Given the description of an element on the screen output the (x, y) to click on. 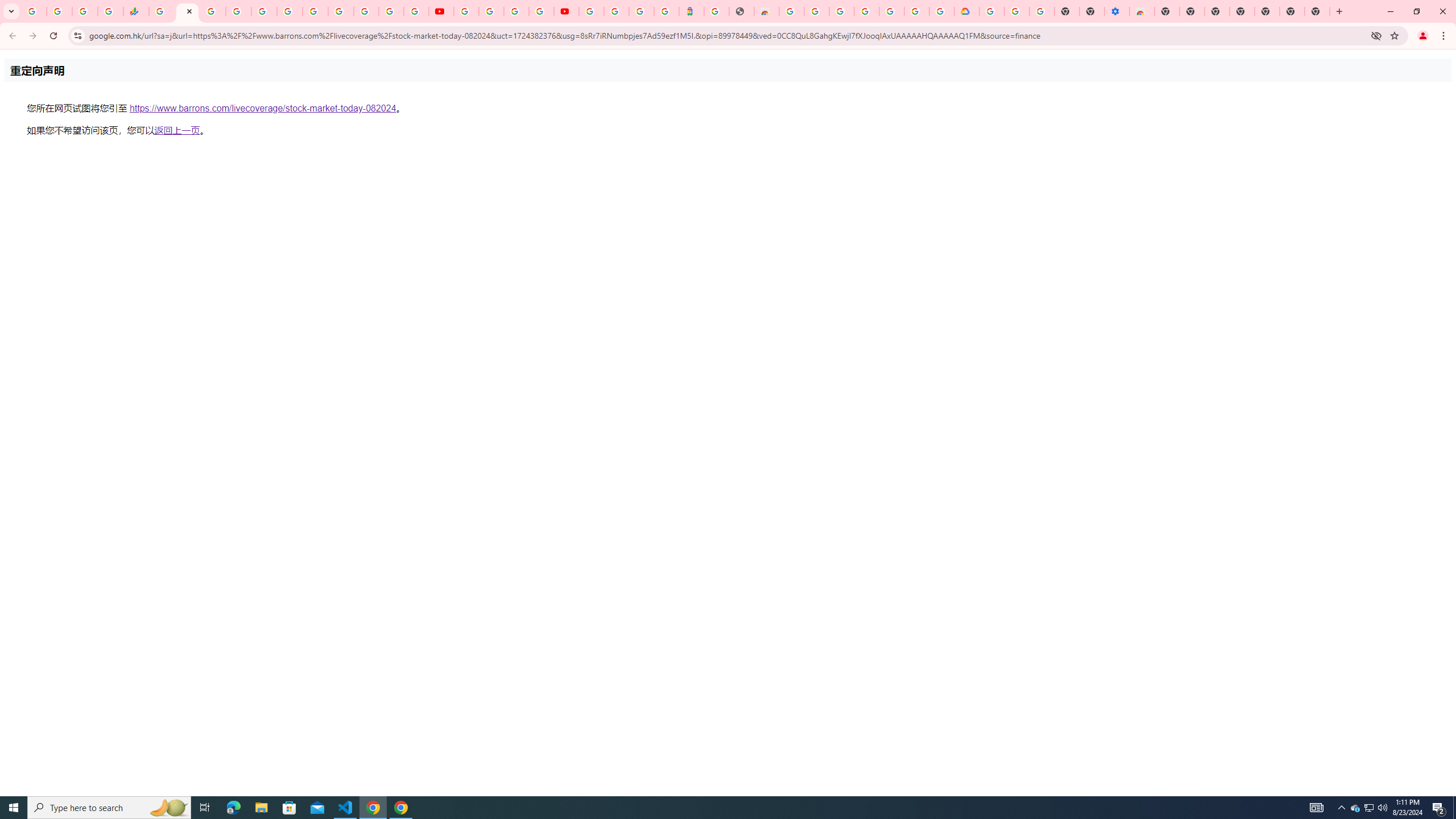
Android TV Policies and Guidelines - Transparency Center (315, 11)
Google Workspace Admin Community (34, 11)
Atour Hotel - Google hotels (691, 11)
